Given the description of an element on the screen output the (x, y) to click on. 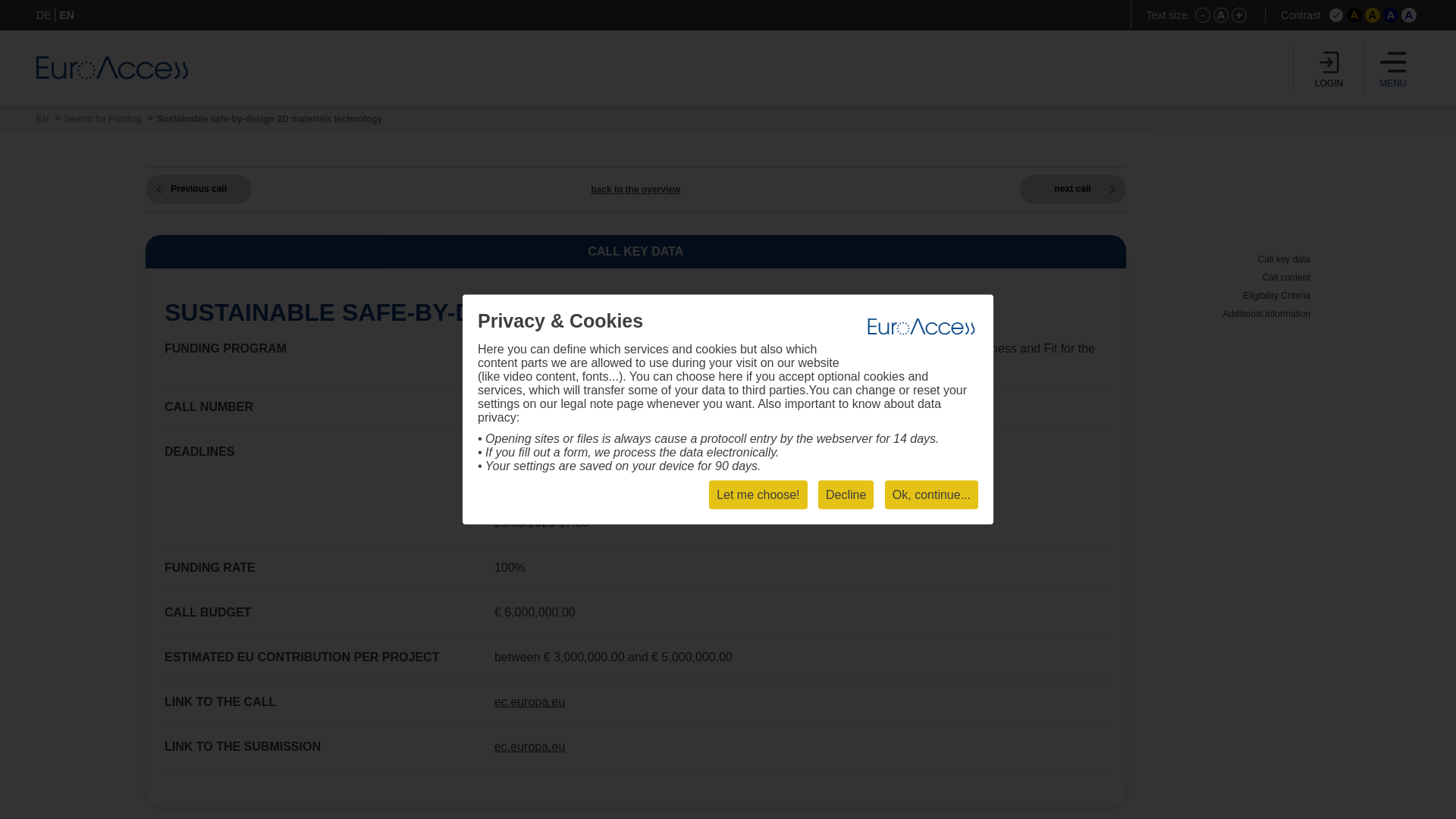
EN (42, 118)
A (1353, 14)
A (1372, 14)
- (1202, 14)
DE (43, 15)
Search for Funding (102, 118)
A (1408, 14)
Search for Funding (102, 118)
A (1390, 14)
Zur Startseite (111, 67)
EN (42, 118)
White on blue (1390, 14)
A (1220, 14)
Yellow on black (1353, 14)
Black on yellow (1372, 14)
